Given the description of an element on the screen output the (x, y) to click on. 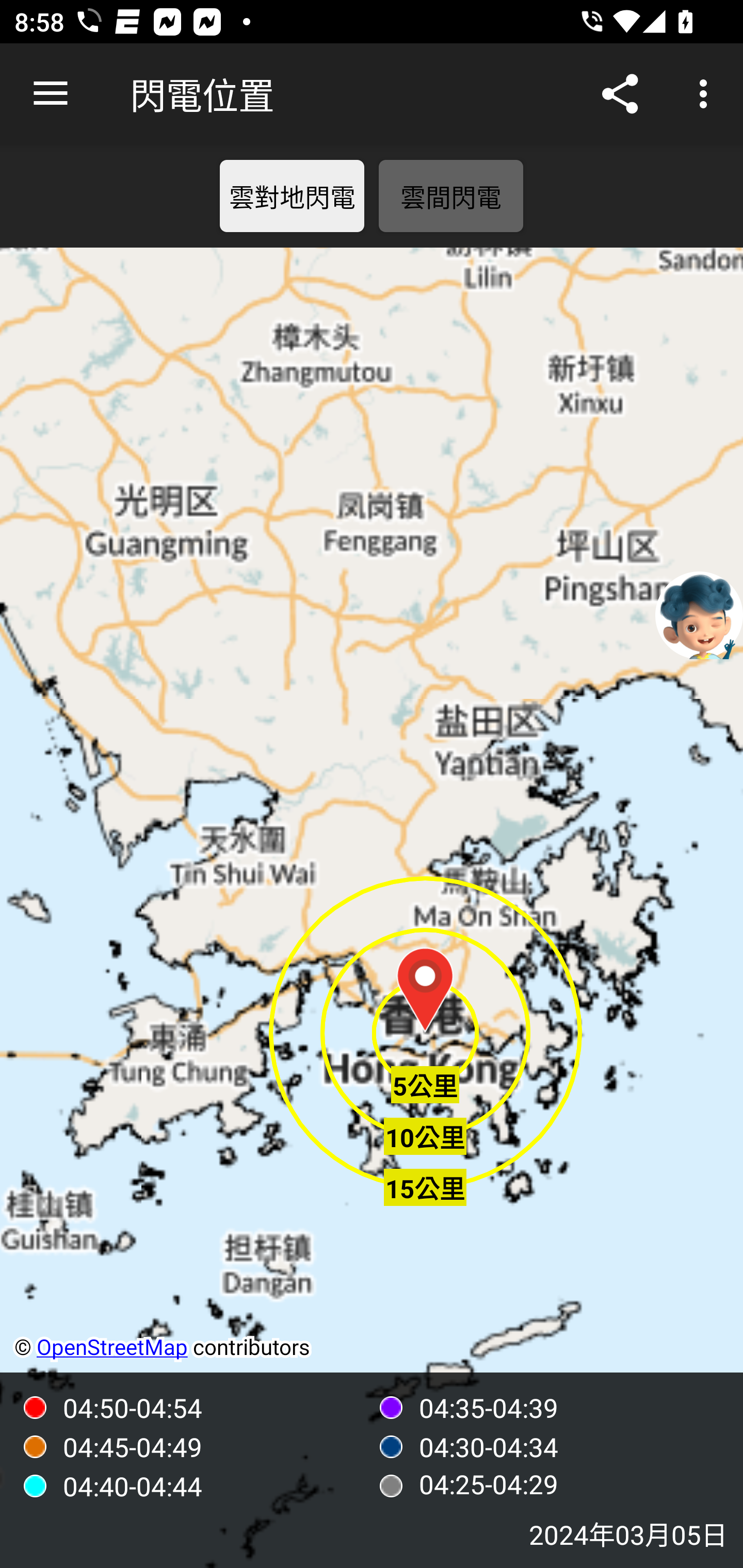
向上瀏覽 (50, 93)
分享 (619, 93)
更多選項 (706, 93)
雲對地閃電 (291, 195)
雲間閃電 (450, 195)
聊天機械人 (699, 614)
